Given the description of an element on the screen output the (x, y) to click on. 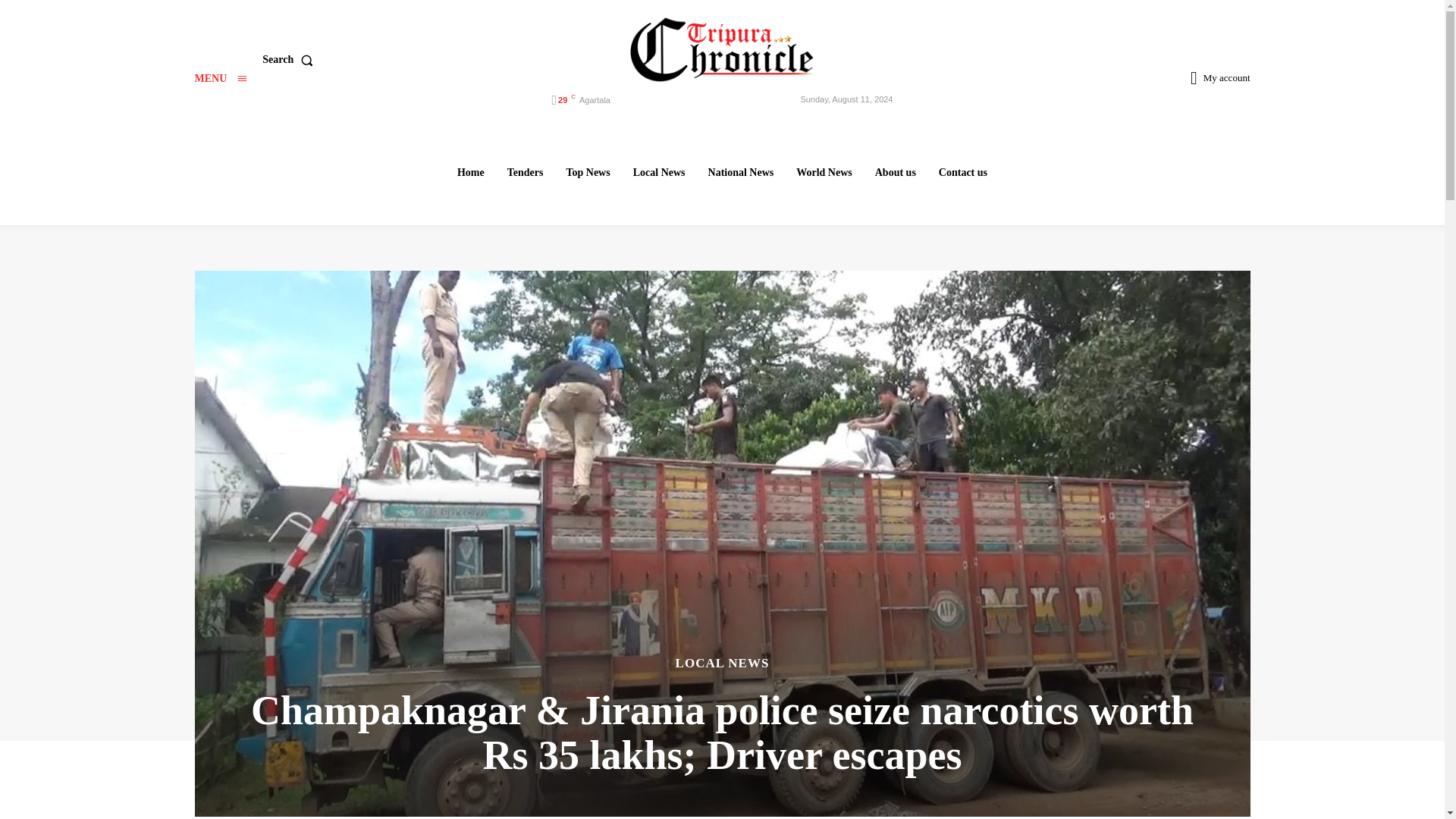
MENU (220, 78)
National News (740, 172)
Search (290, 60)
Menu (220, 78)
Top News (587, 172)
Tenders (525, 172)
Home (470, 172)
Local News (659, 172)
World News (824, 172)
